Given the description of an element on the screen output the (x, y) to click on. 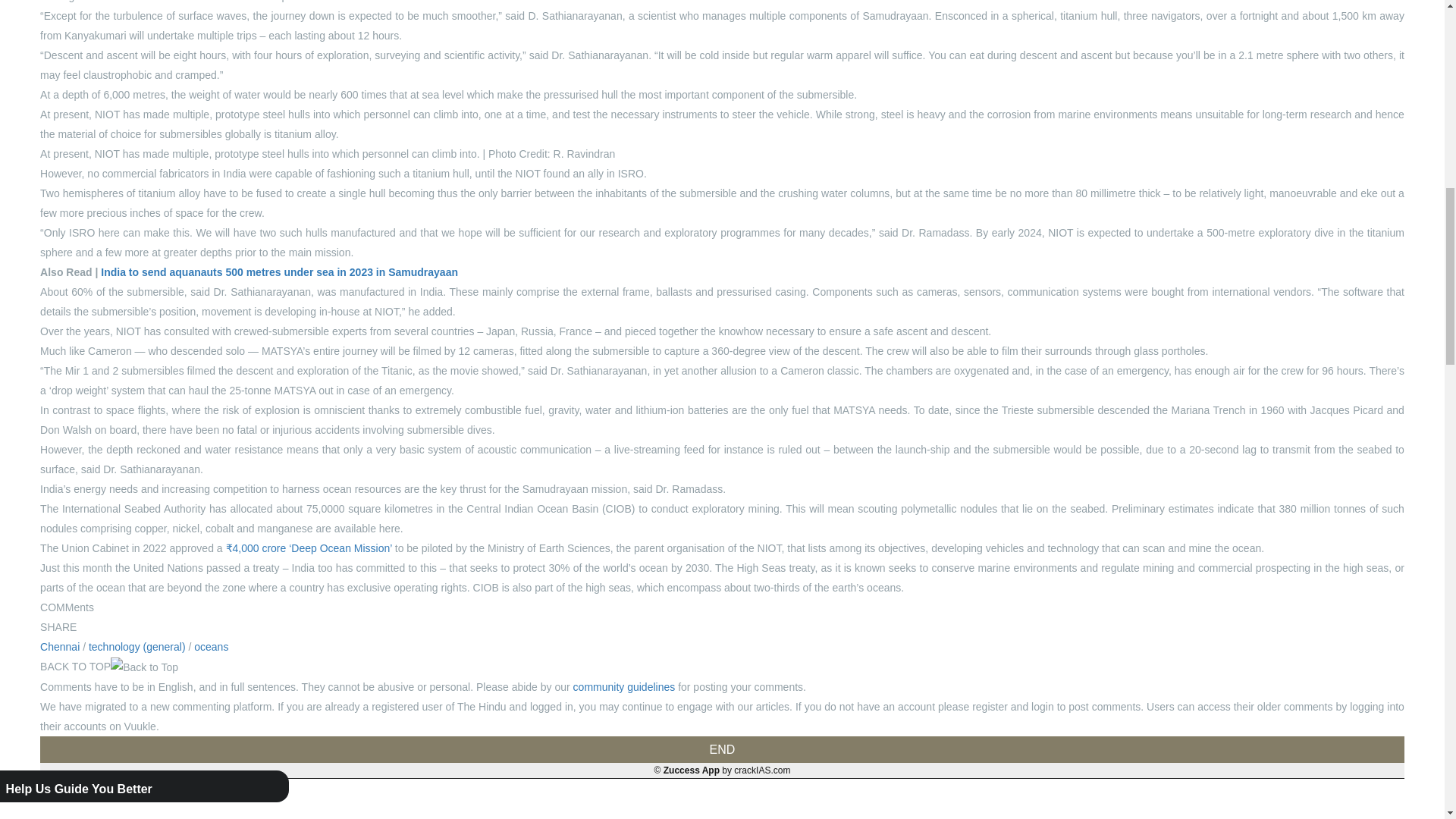
oceans (210, 646)
community guidelines (625, 686)
Chennai (61, 646)
